Given the description of an element on the screen output the (x, y) to click on. 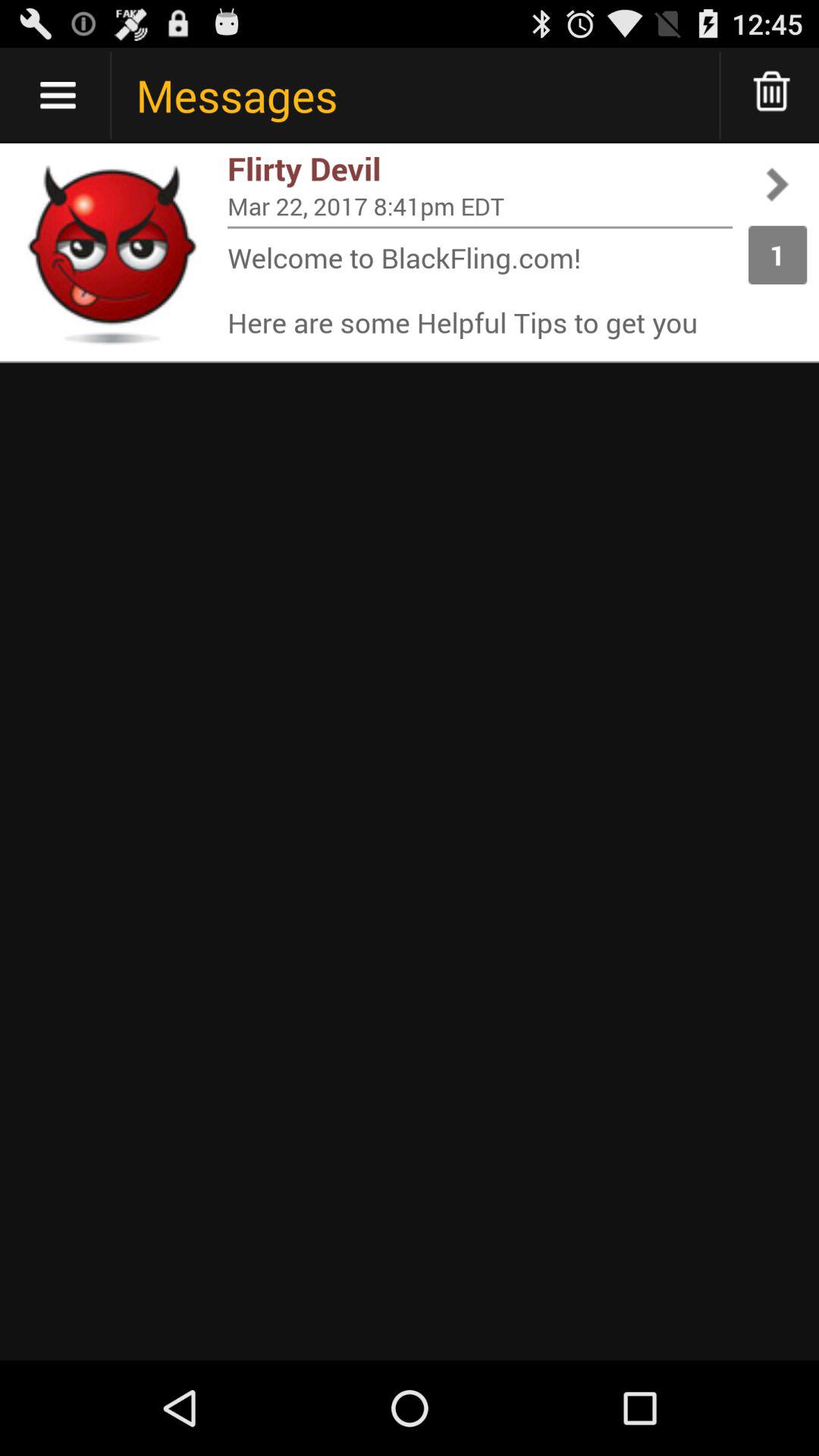
choose the icon next to the 1 item (479, 205)
